Given the description of an element on the screen output the (x, y) to click on. 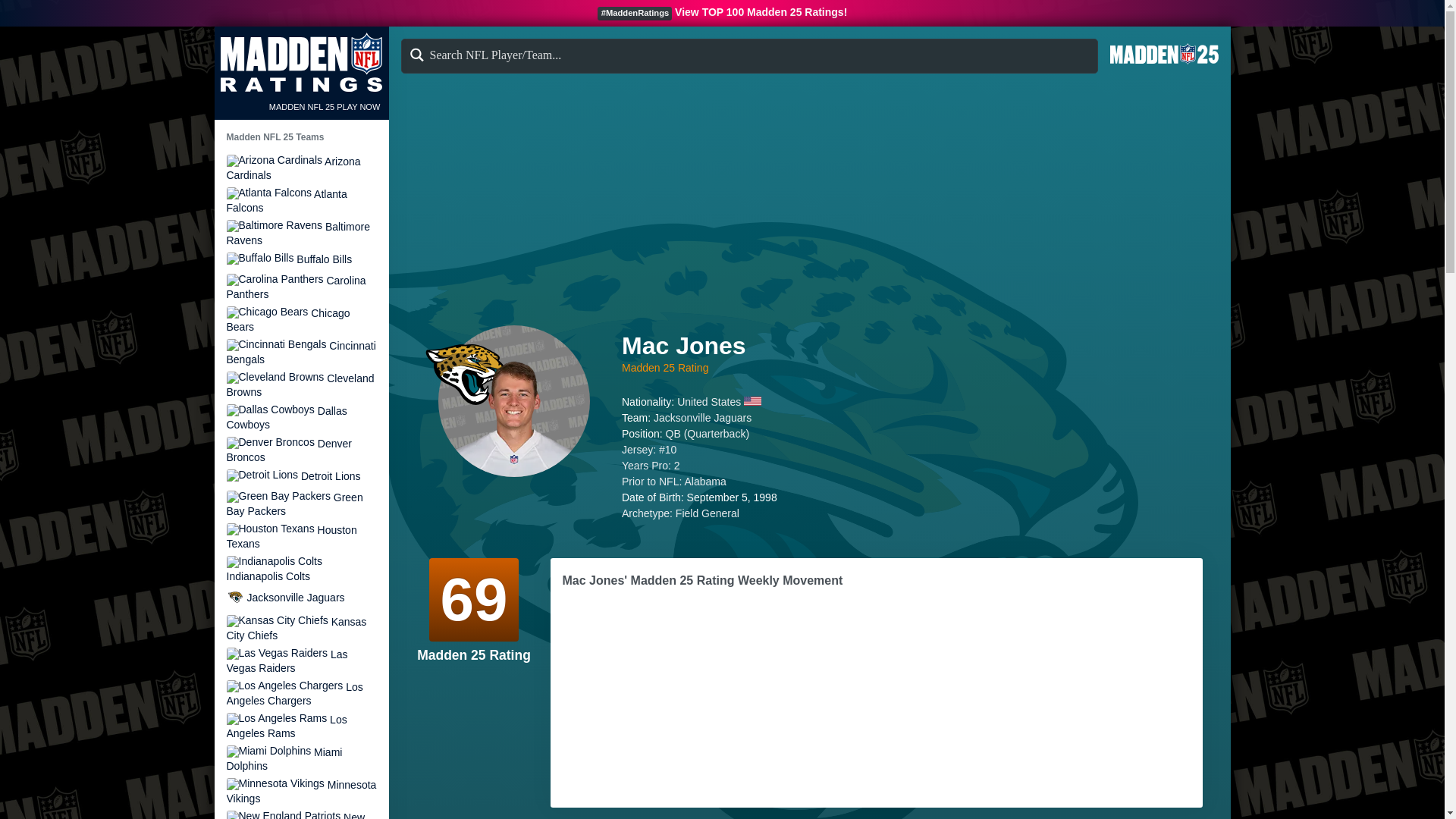
Cleveland Browns (300, 384)
Los Angeles Chargers (283, 686)
Madden Ratings (300, 61)
Denver Broncos (300, 449)
Carolina Panthers (274, 279)
Dallas Cowboys (300, 417)
Detroit Lions (300, 476)
Houston Texans (300, 536)
Cincinnati Bengals (300, 352)
Houston Texans (269, 529)
